Given the description of an element on the screen output the (x, y) to click on. 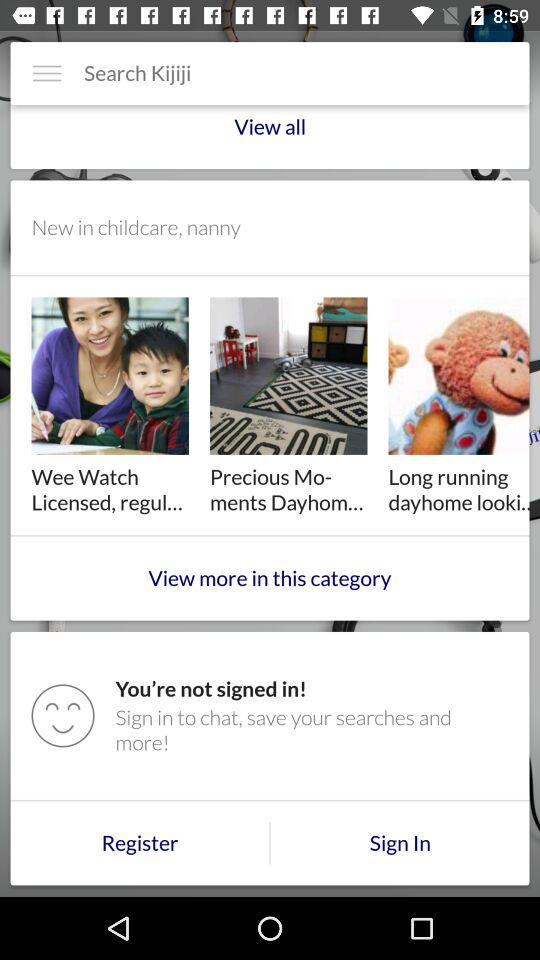
turn off the icon above the new in childcare (269, 135)
